Given the description of an element on the screen output the (x, y) to click on. 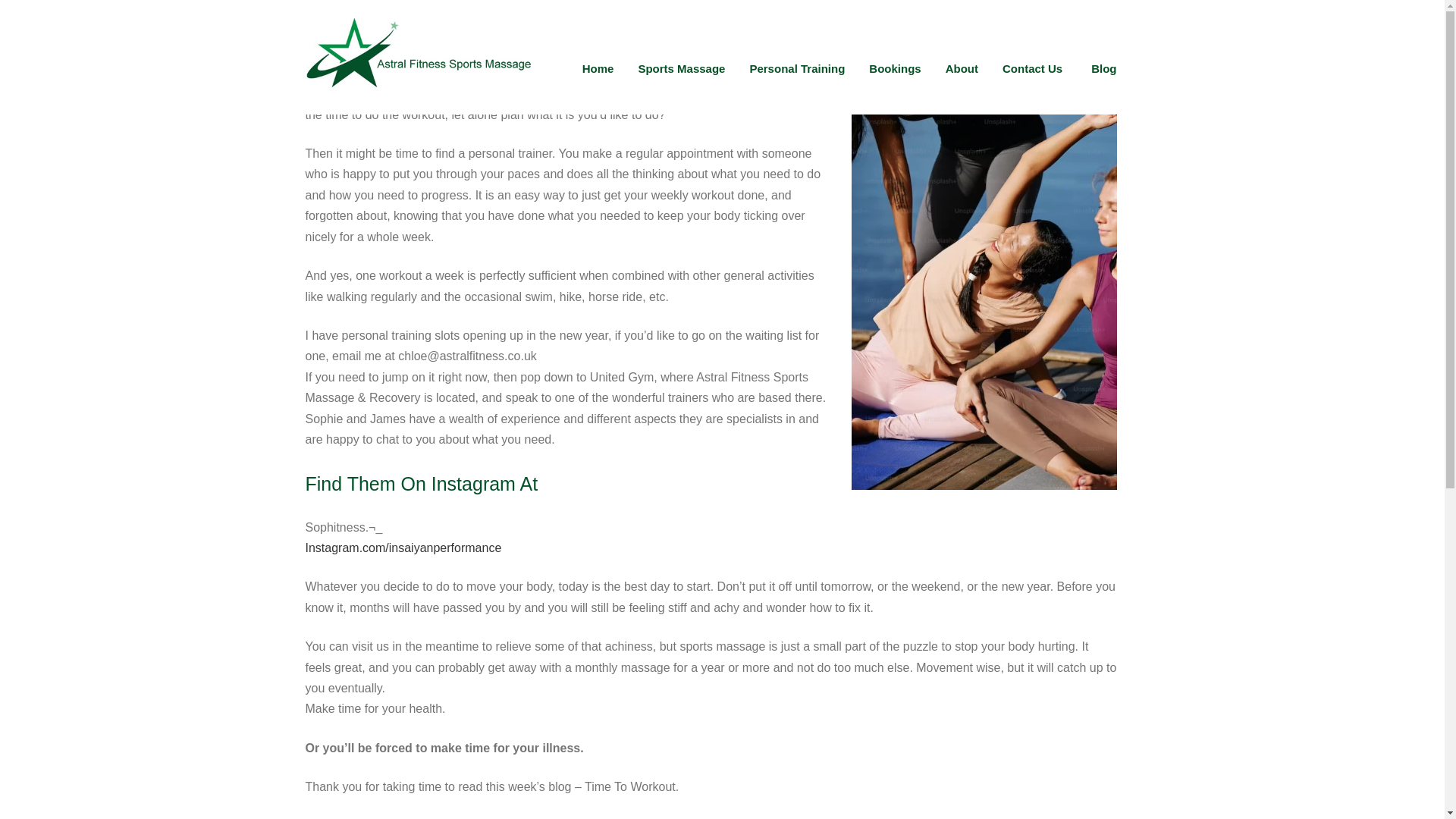
Bookings (894, 68)
Contact Us (1034, 68)
About (962, 68)
Blog (1106, 68)
Home (598, 68)
Sports Massage (681, 68)
Personal Training (797, 68)
Astral Fitness (416, 107)
